Given the description of an element on the screen output the (x, y) to click on. 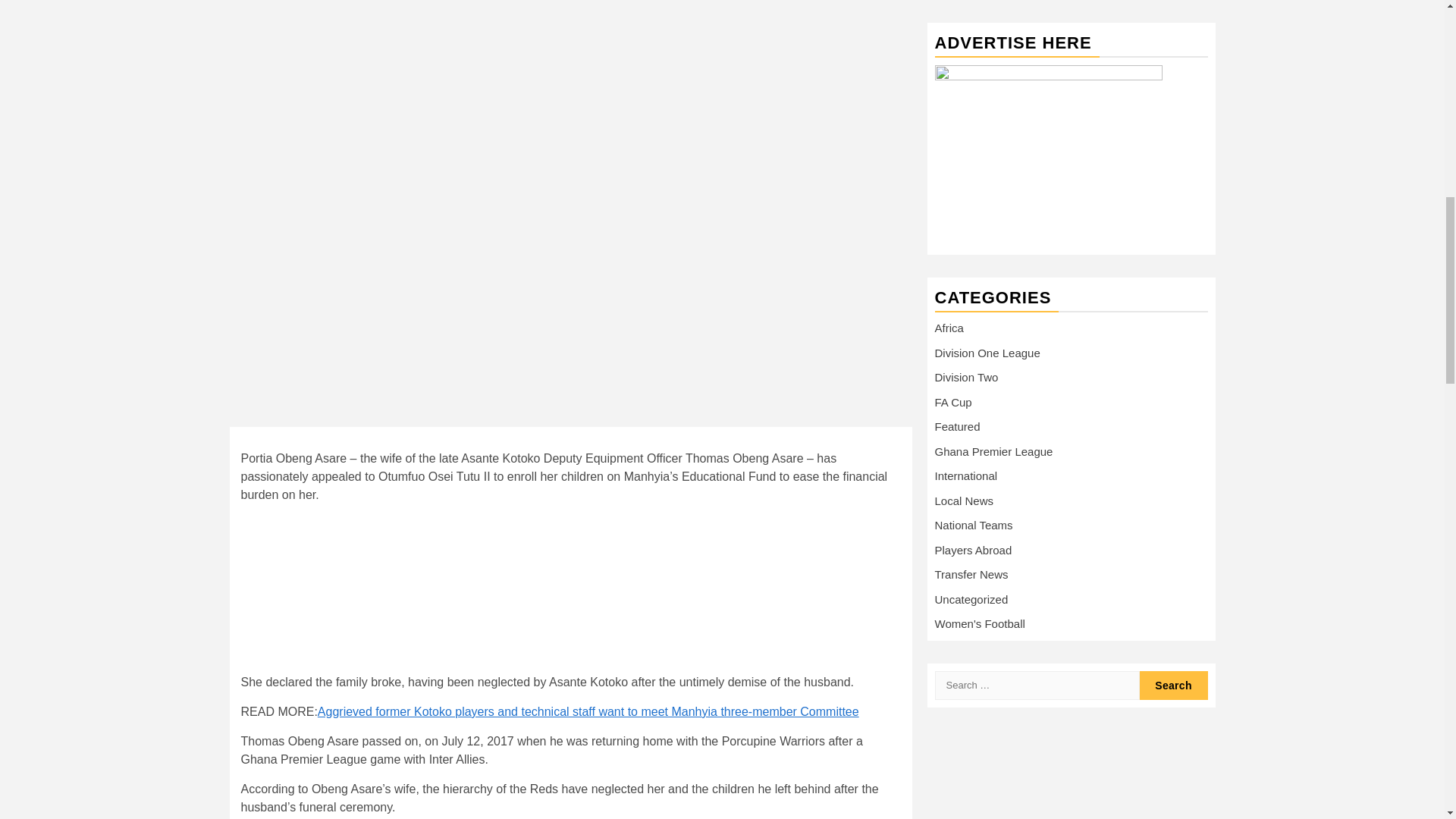
Search (1172, 403)
Search (1172, 403)
